Given the description of an element on the screen output the (x, y) to click on. 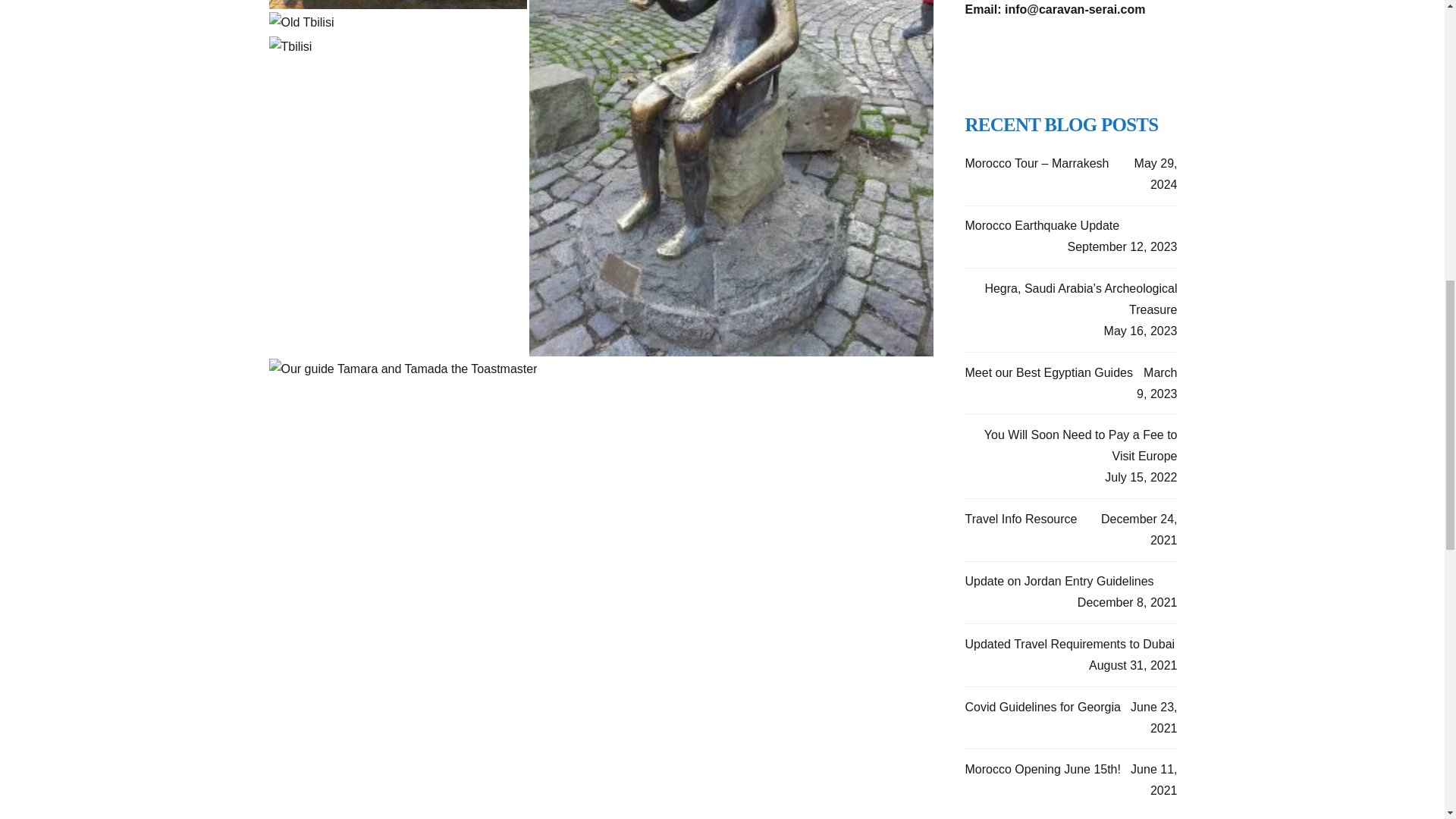
Tbilisi14 (402, 369)
Tbilisi3 (289, 46)
Tbilisi10 (300, 22)
GeorgianWine1 (396, 4)
